Given the description of an element on the screen output the (x, y) to click on. 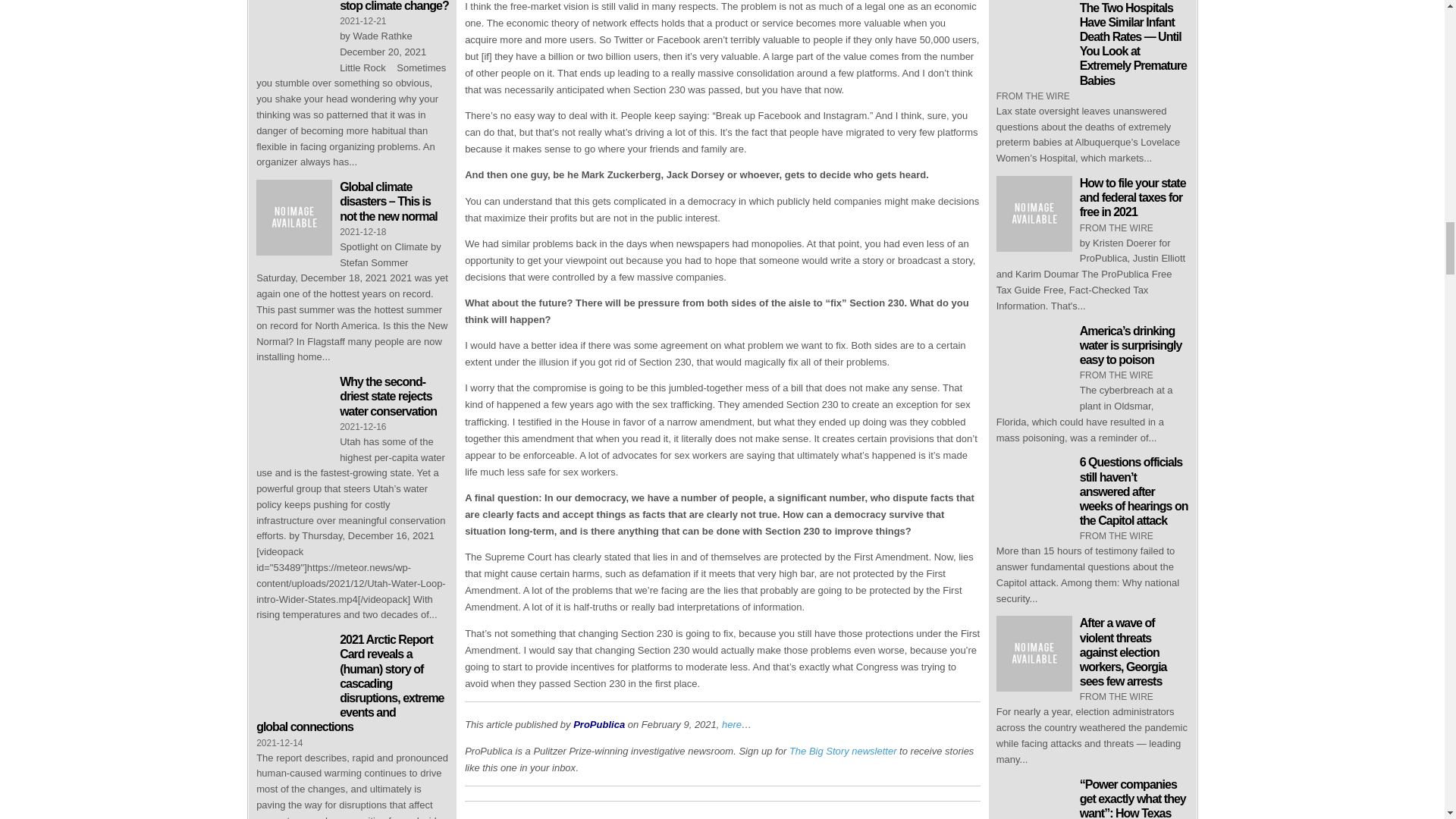
The Big Story newsletter (842, 750)
here (731, 724)
ProPublica (598, 724)
